Given the description of an element on the screen output the (x, y) to click on. 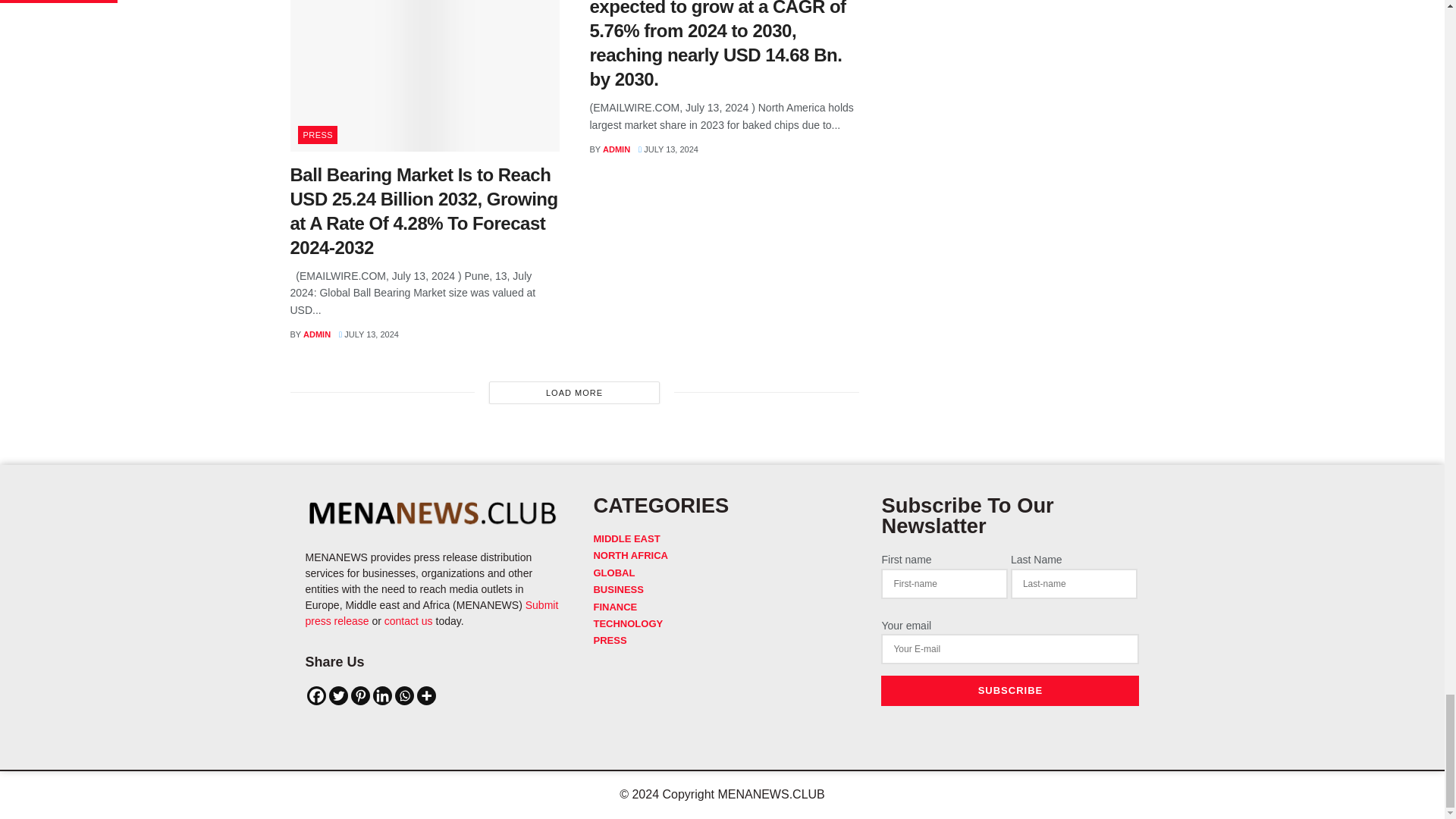
Pinterest (359, 695)
Linkedin (381, 695)
Subscribe (1009, 690)
Twitter (338, 695)
Whatsapp (403, 695)
More (425, 695)
Facebook (314, 695)
